Given the description of an element on the screen output the (x, y) to click on. 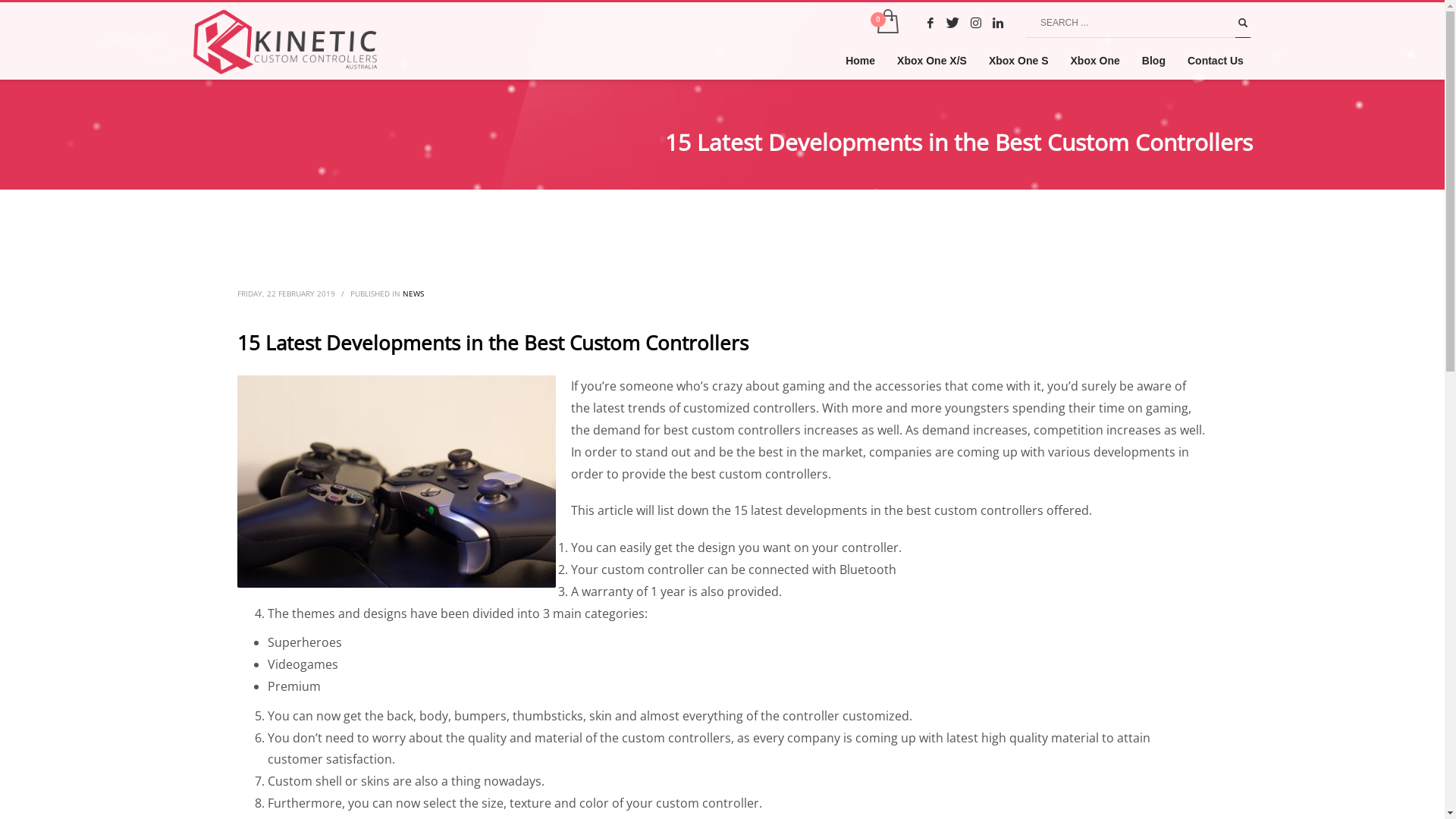
Xbox One X/S Element type: text (931, 60)
Tagline Element type: hover (285, 41)
best custom controllers Element type: hover (396, 481)
NEWS Element type: text (412, 293)
Xbox One Element type: text (1095, 60)
Contact Us Element type: text (1215, 60)
go Element type: text (1242, 22)
Blog Element type: text (1153, 60)
LinkedIn Element type: hover (998, 22)
View your shopping cart Element type: hover (886, 22)
Home Element type: text (860, 60)
Facebook Element type: hover (930, 22)
Xbox One S Element type: text (1018, 60)
Twitter Element type: hover (952, 22)
Instagram Element type: hover (975, 22)
